Given the description of an element on the screen output the (x, y) to click on. 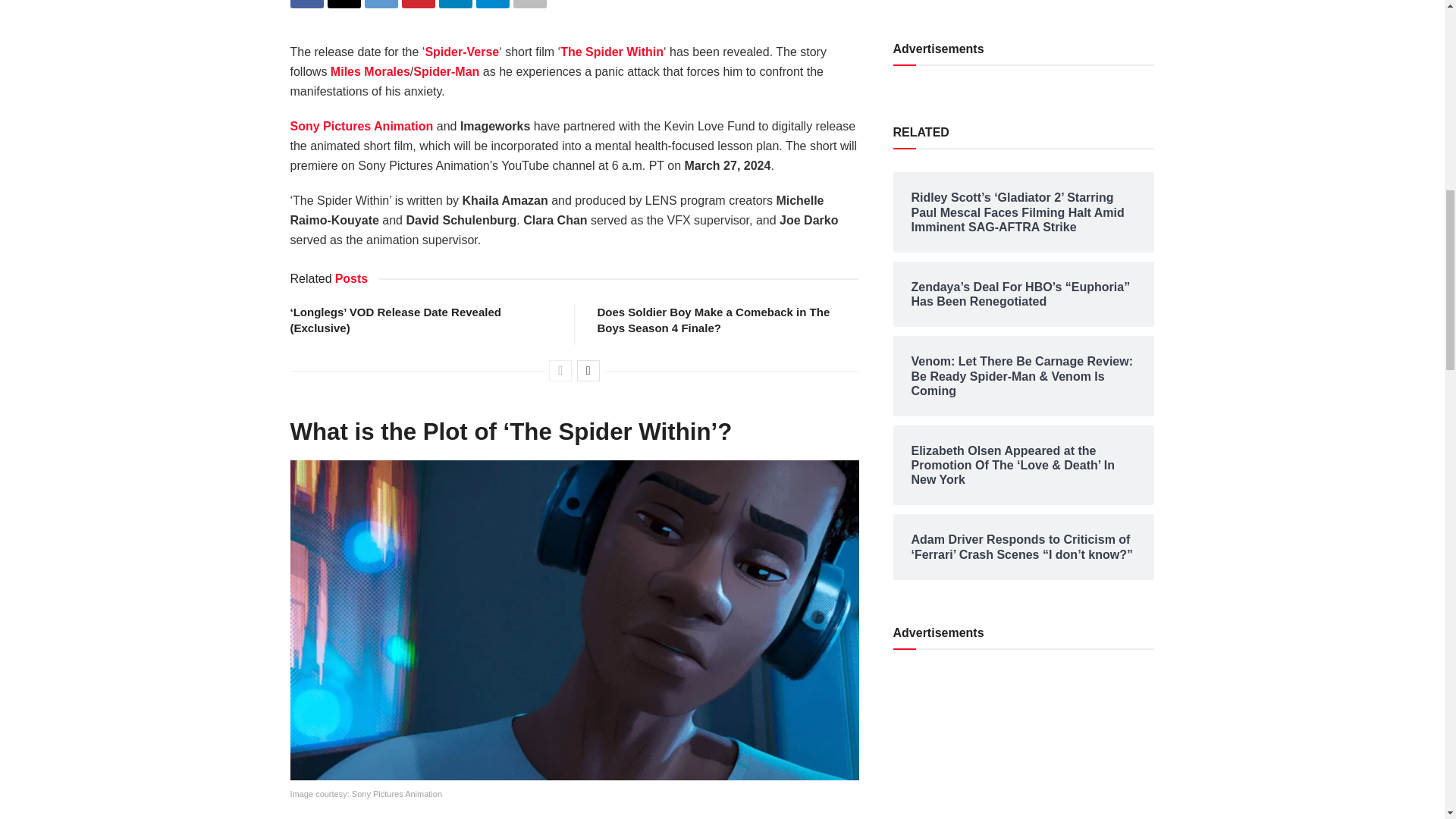
Previous (560, 370)
Next (587, 370)
